Given the description of an element on the screen output the (x, y) to click on. 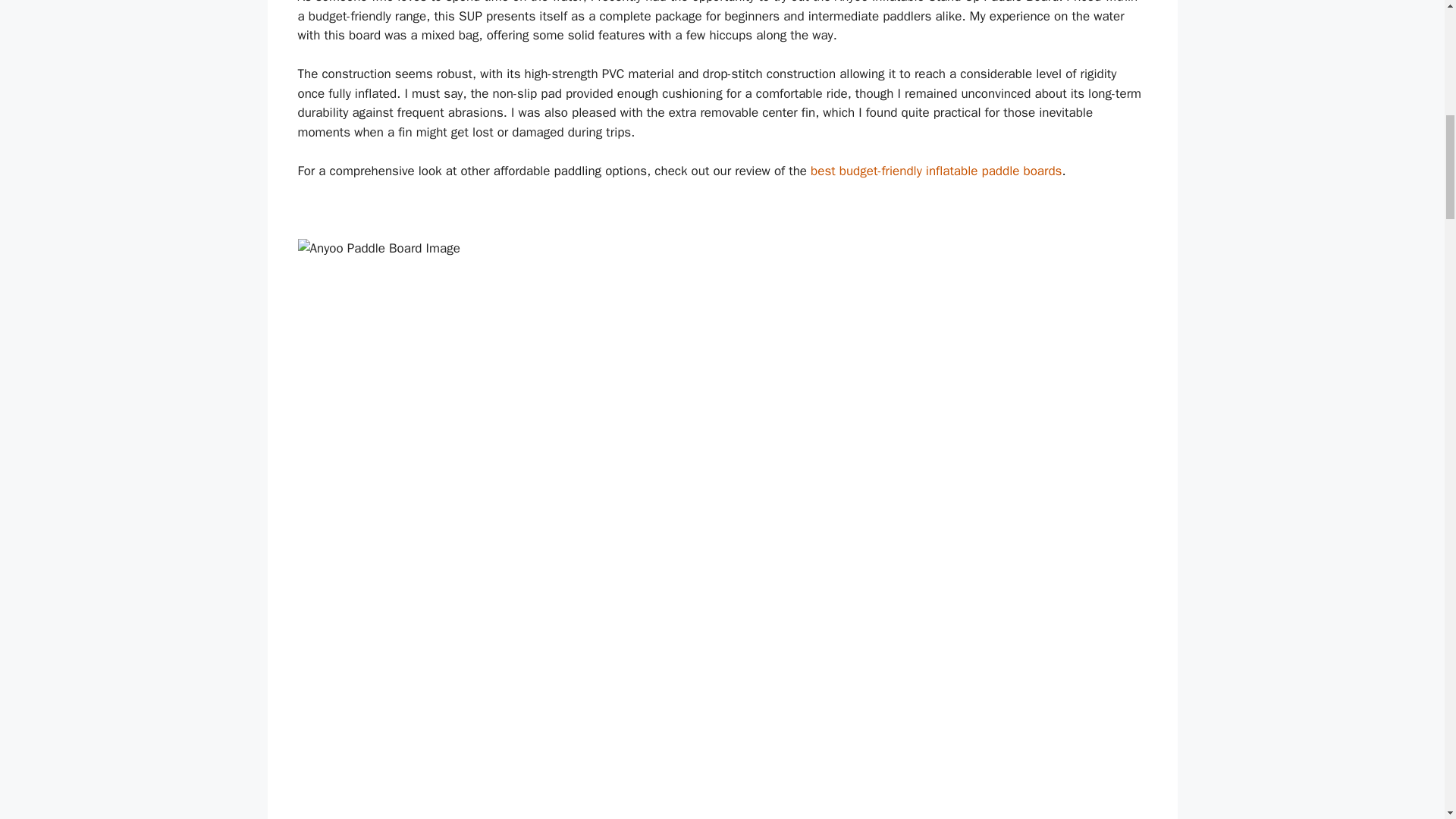
best budget-friendly inflatable paddle boards (935, 170)
Scroll back to top (1406, 720)
